Given the description of an element on the screen output the (x, y) to click on. 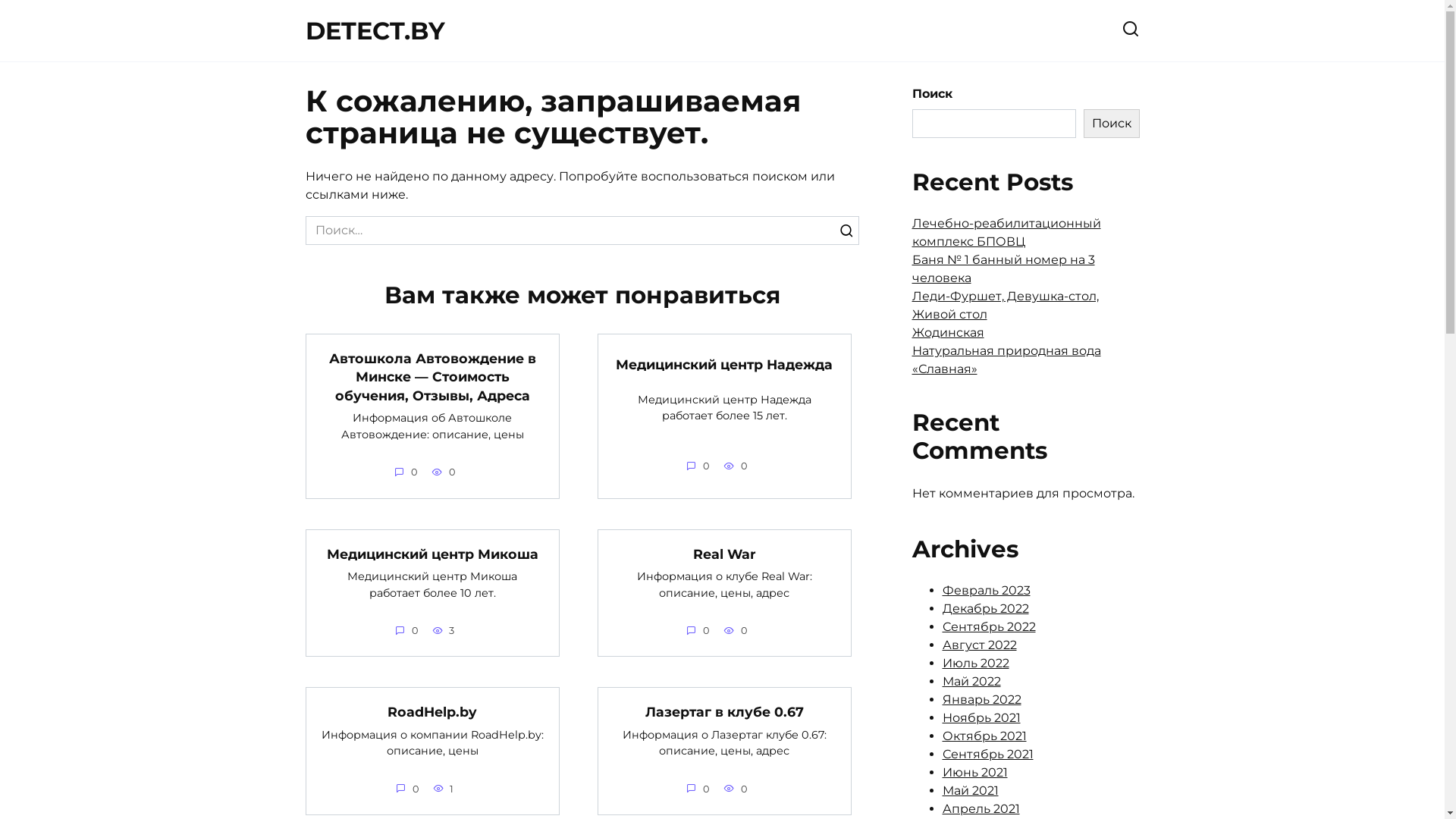
RoadHelp.by Element type: text (431, 711)
Real War Element type: text (724, 553)
DETECT.BY Element type: text (374, 30)
